Given the description of an element on the screen output the (x, y) to click on. 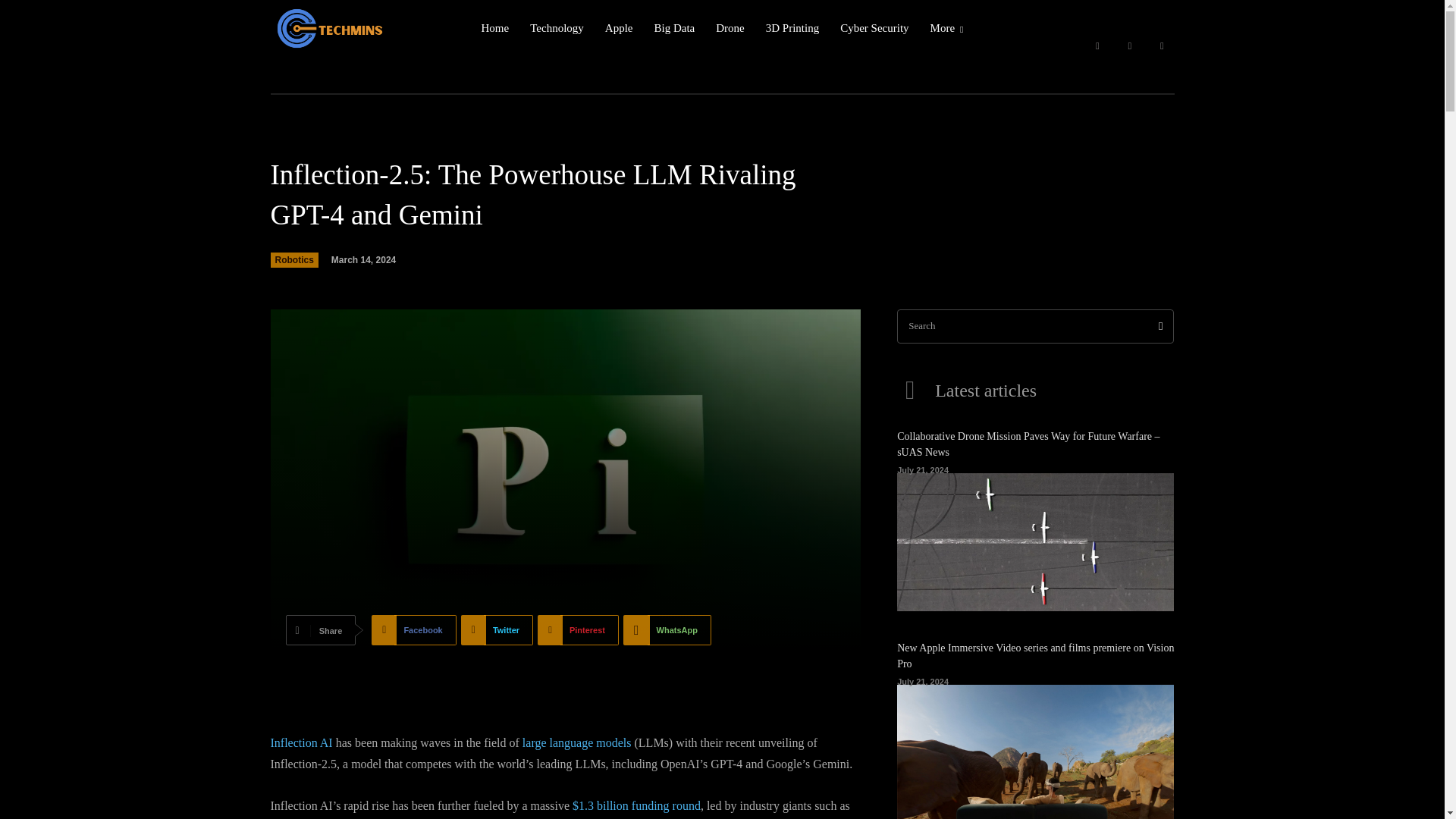
Twitter (1162, 46)
Twitter (496, 630)
Facebook (413, 630)
Instagram (1130, 46)
Technology (556, 28)
3D Printing (791, 28)
Facebook (1096, 46)
Cyber Security (874, 28)
Pinterest (577, 630)
WhatsApp (667, 630)
